Given the description of an element on the screen output the (x, y) to click on. 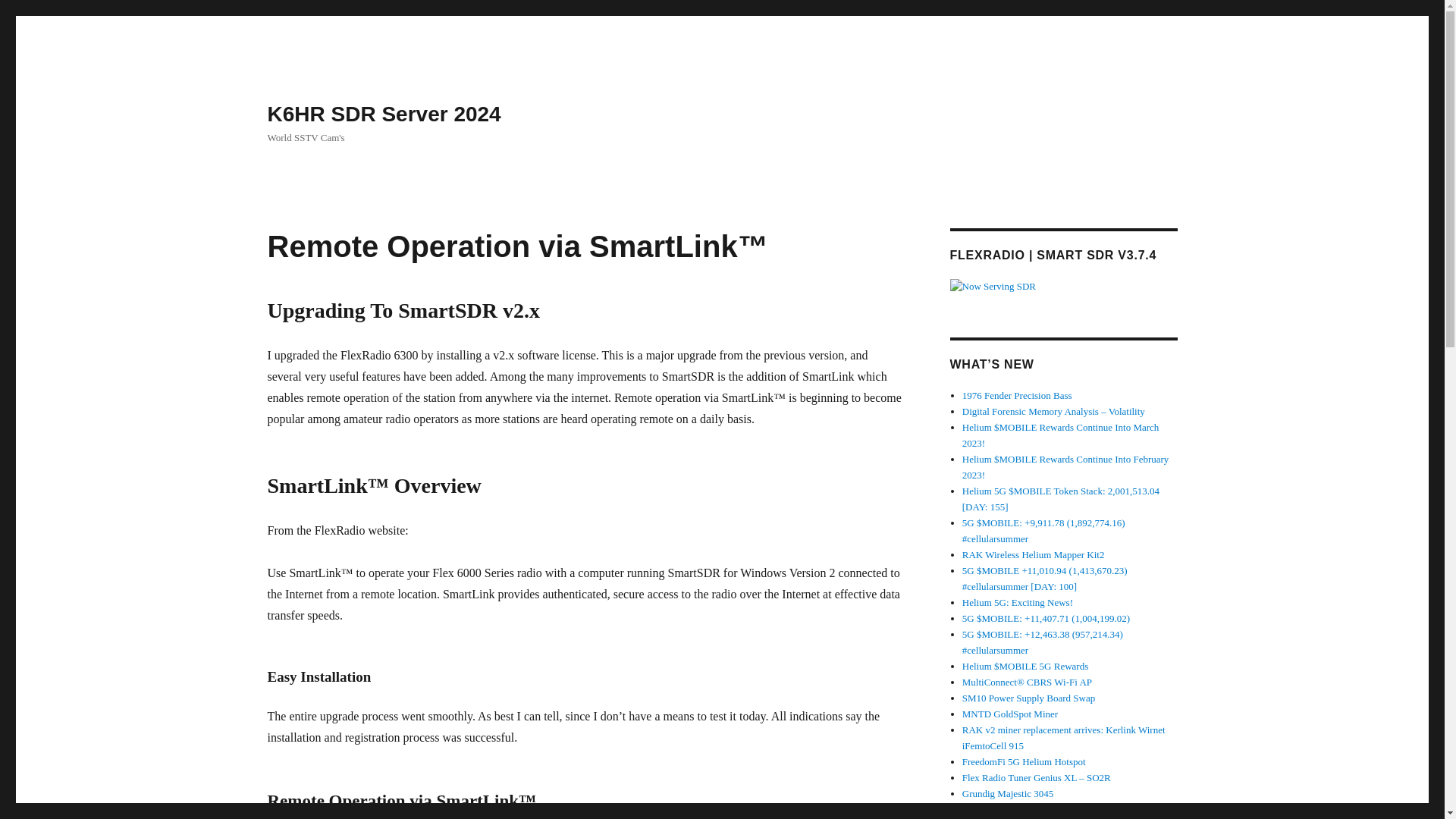
ROHN H50 Mast has Arrived (1021, 808)
1976 Fender Precision Bass (1016, 395)
K6HR SDR Server 2024 (383, 114)
RAK Wireless Helium Mapper Kit2 (1033, 554)
Grundig Majestic 3045 (1008, 793)
FreedomFi 5G Helium Hotspot (1024, 761)
SM10 Power Supply Board Swap (1029, 697)
Helium 5G: Exciting News! (1017, 602)
MNTD GoldSpot Miner (1010, 713)
